Given the description of an element on the screen output the (x, y) to click on. 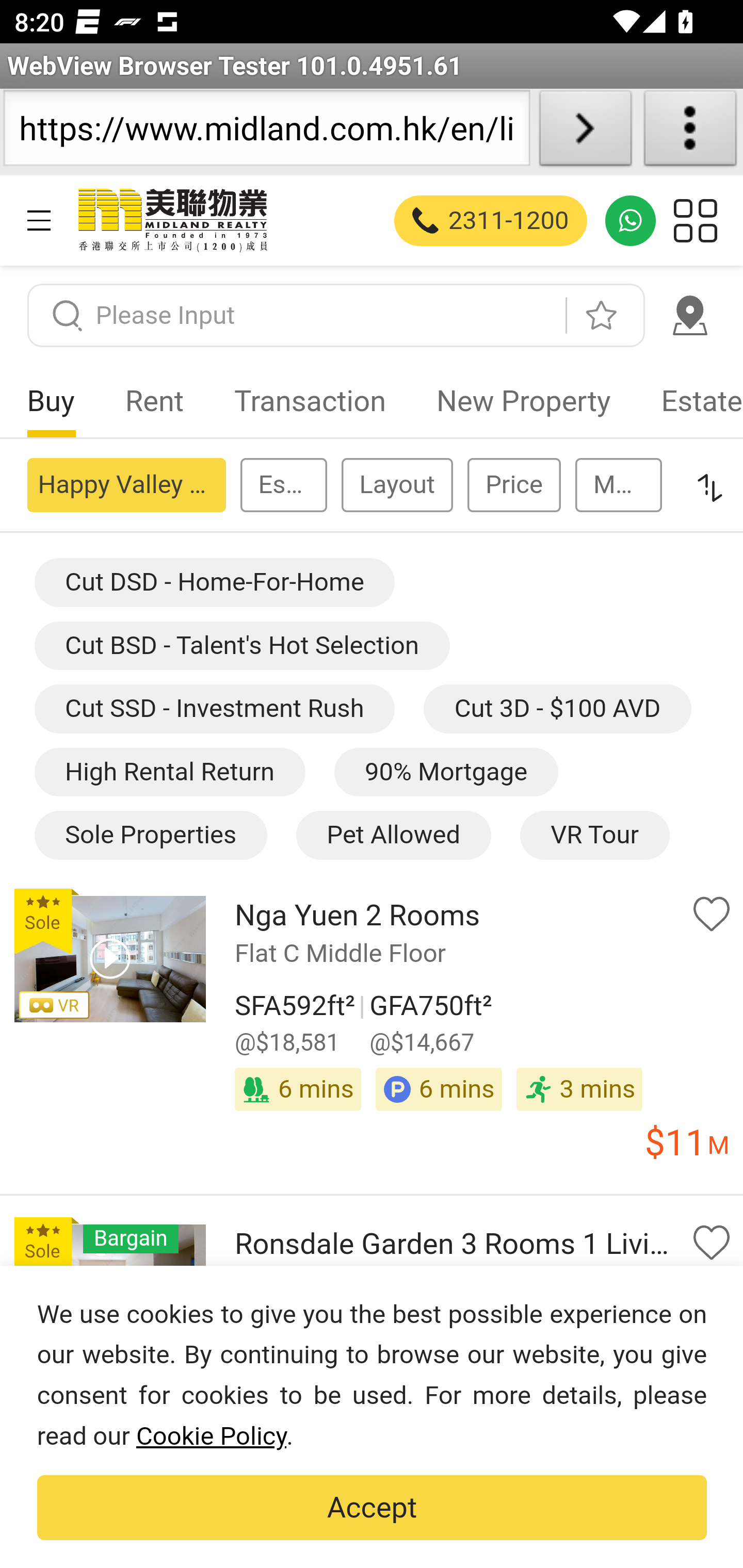
Load URL (585, 132)
About WebView (690, 132)
Midland Realty - Property Agency in Hong Kong (171, 220)
2311-1200 (490, 219)
WhatsApp: 2311-1200 (630, 219)
Map Search (689, 314)
Buy (50, 401)
Rent (154, 401)
Transaction (310, 401)
New Property (523, 401)
Estate (689, 401)
Estates (283, 484)
Layout (396, 484)
Price (513, 484)
More (618, 484)
Cut DSD - Home-For-Home (213, 583)
Cut BSD - Talent's Hot Selection (241, 644)
Cut SSD - Investment Rush (213, 710)
Cut 3D - $100 AVD (556, 710)
High Rental Return (169, 772)
90% Mortgage (445, 772)
Sole Properties (149, 835)
Pet Allowed (392, 835)
VR Tour (593, 835)
Cookie Policy (210, 1435)
Accept (372, 1508)
